Given the description of an element on the screen output the (x, y) to click on. 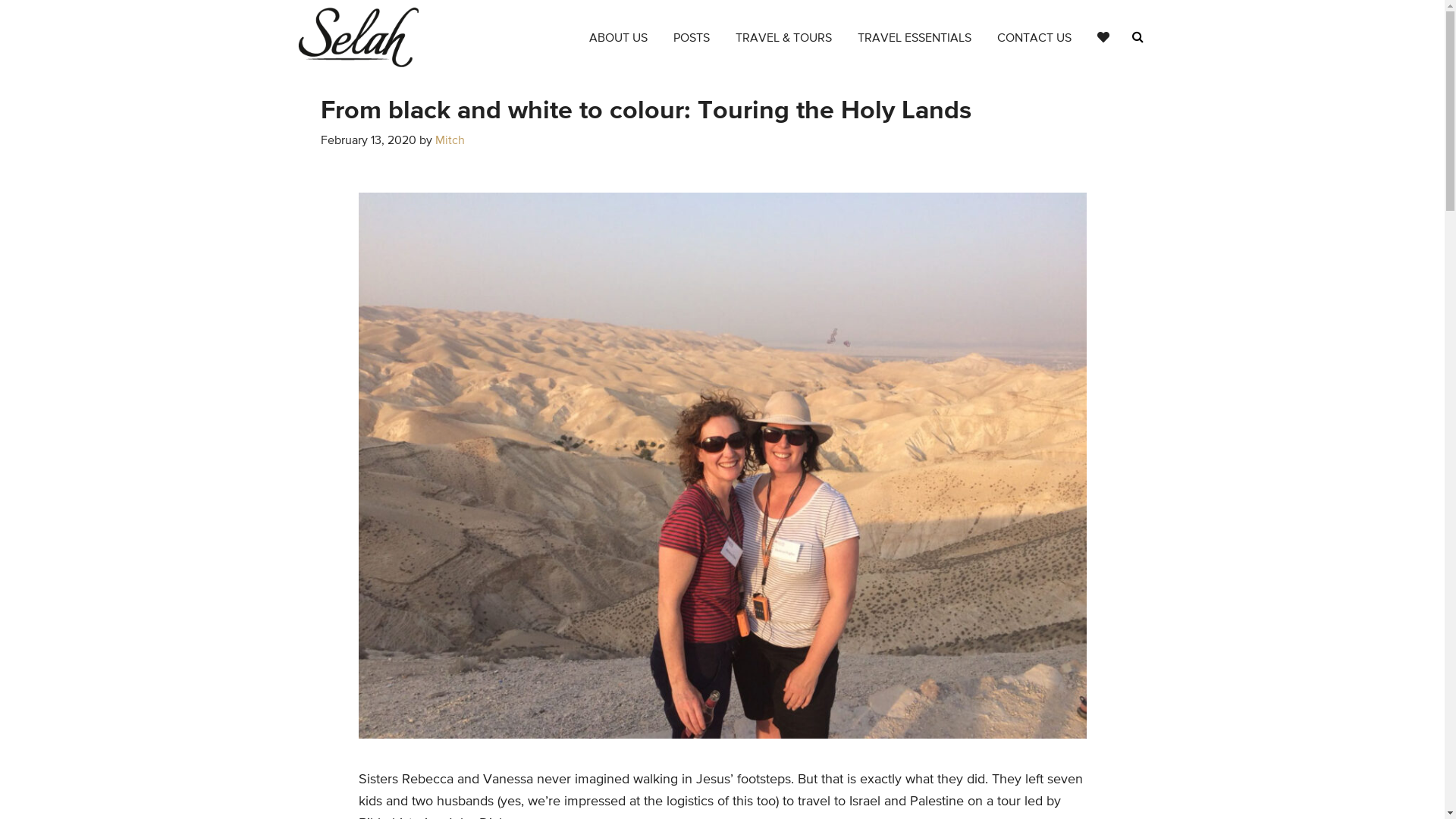
Skip to main content Element type: text (0, 0)
TRAVEL & TOURS Element type: text (782, 38)
Selah Element type: text (357, 37)
Mitch Element type: text (449, 140)
Rebecca and Vanessa - Wadi Qelt Element type: hover (721, 465)
CONTACT US Element type: text (1033, 38)
TRAVEL ESSENTIALS Element type: text (914, 38)
ABOUT US Element type: text (617, 38)
POSTS Element type: text (690, 38)
